Given the description of an element on the screen output the (x, y) to click on. 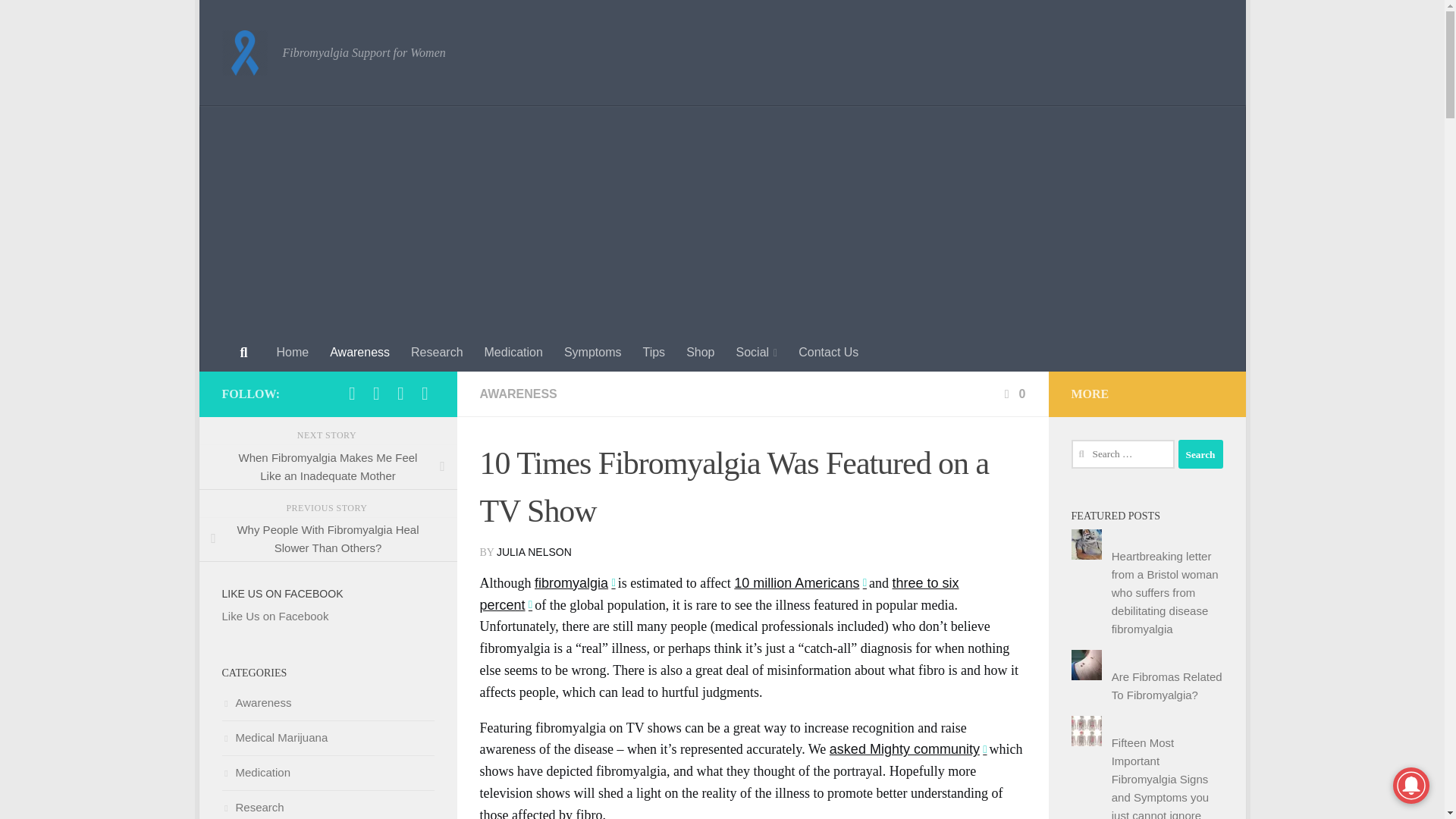
asked Mighty community (907, 749)
Home (291, 352)
Awareness (359, 352)
AWARENESS (517, 393)
Skip to content (263, 20)
Search (1200, 453)
Social (756, 352)
Search (1200, 453)
0 (1013, 393)
Research (436, 352)
